Given the description of an element on the screen output the (x, y) to click on. 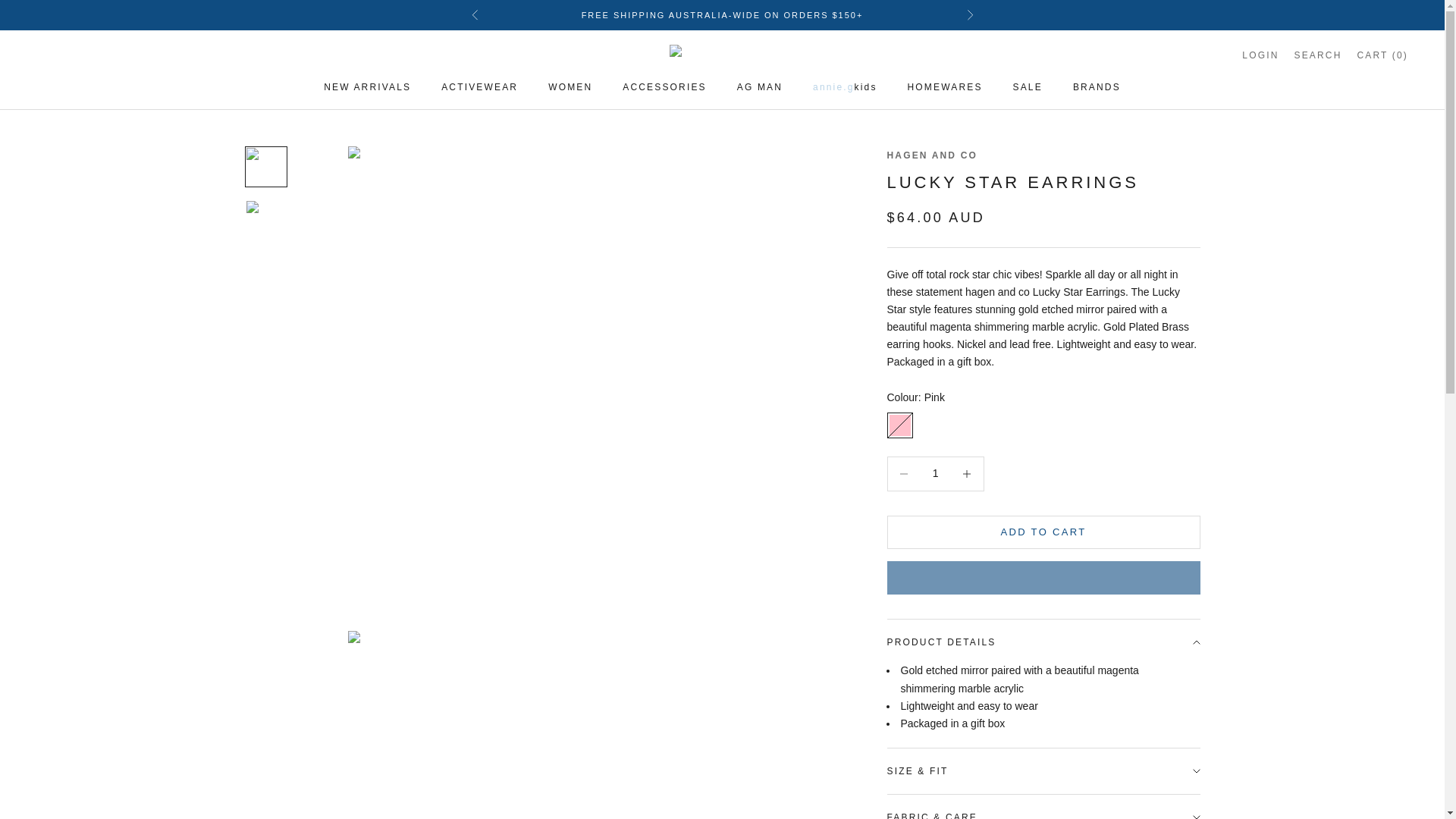
NEW ARRIVALS (366, 87)
1 (935, 473)
ANNIE.G (721, 55)
